Given the description of an element on the screen output the (x, y) to click on. 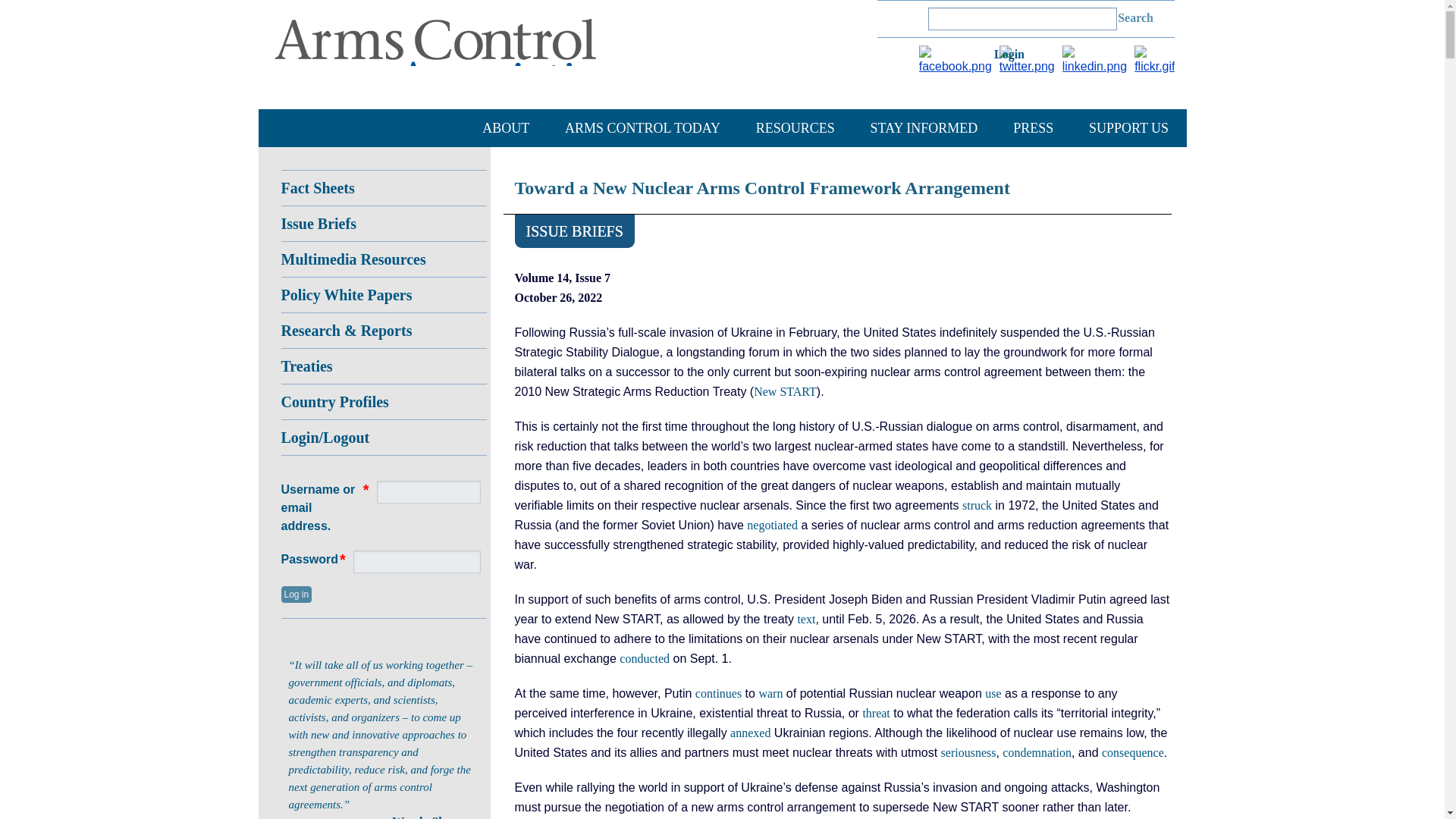
Log in (1015, 57)
RESOURCES (794, 127)
STAY INFORMED (923, 127)
ABOUT (505, 127)
Enter the terms you wish to search for. (1022, 18)
ARMS CONTROL TODAY (642, 127)
Home (451, 56)
Search (1136, 18)
